Given the description of an element on the screen output the (x, y) to click on. 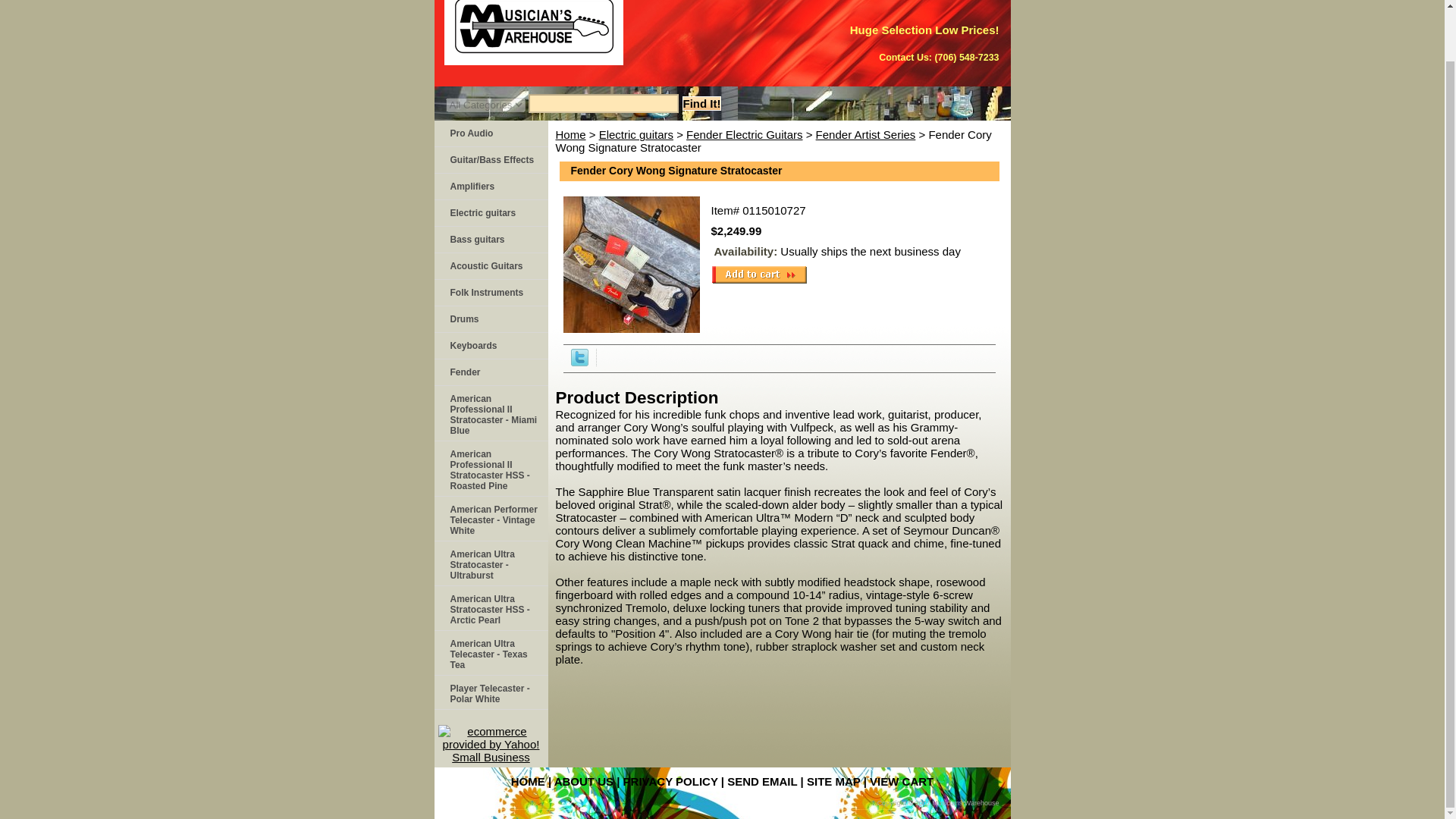
American Ultra Stratocaster HSS - Arctic Pearl (490, 608)
Pro Audio (490, 133)
American Ultra Stratocaster - Ultraburst (490, 563)
Electric guitars (490, 212)
Fender (490, 372)
Home (569, 133)
SEND EMAIL (761, 780)
American Professional II Stratocaster - Miami Blue (490, 413)
ABOUT US (583, 780)
American Ultra Stratocaster - Ultraburst (490, 563)
Acoustic Guitars (490, 266)
SITE MAP (833, 780)
Bass guitars (490, 239)
American Ultra Telecaster - Texas Tea (490, 652)
Bass guitars (490, 239)
